Given the description of an element on the screen output the (x, y) to click on. 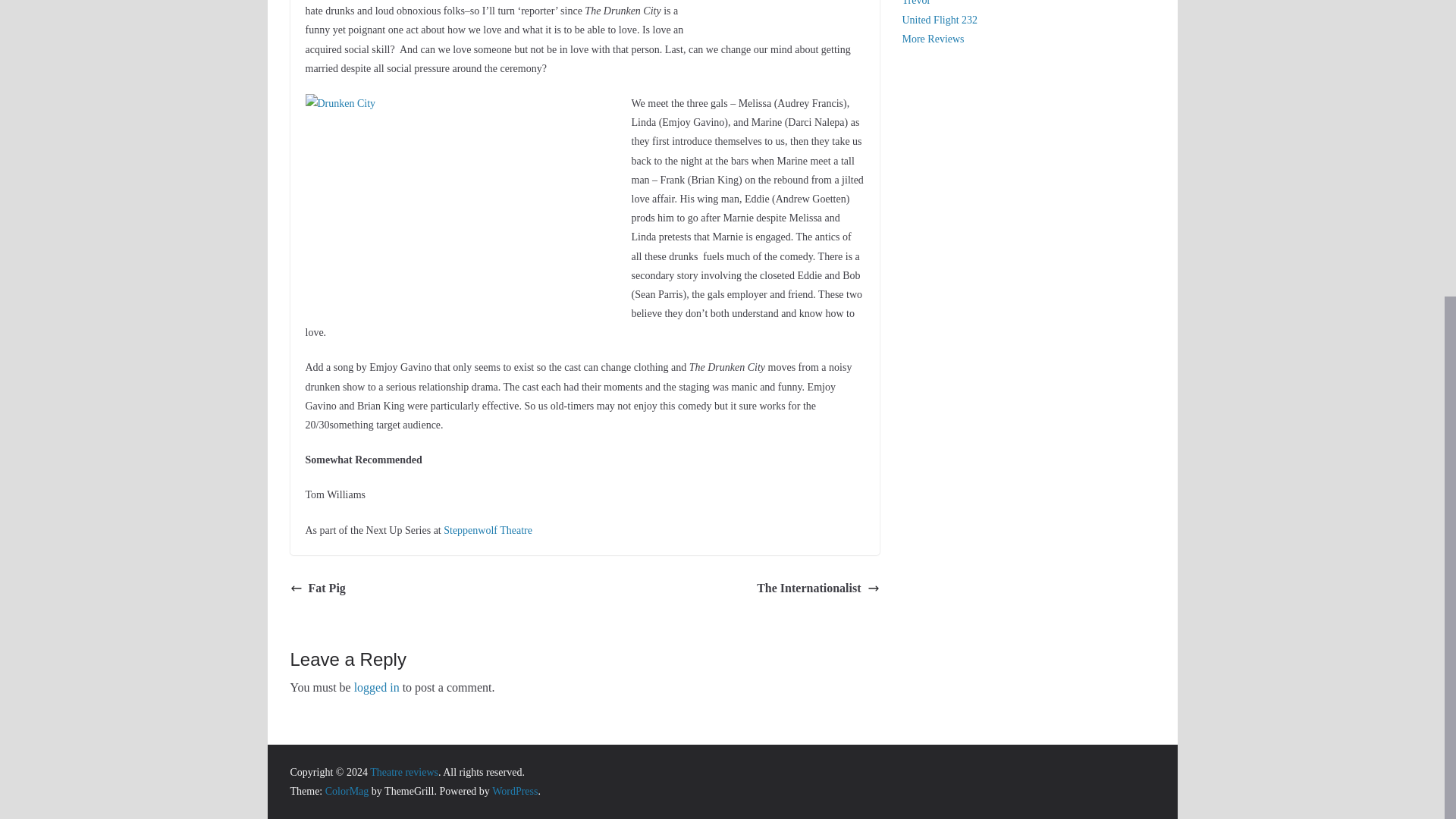
the drunken city (456, 191)
next up at steppenwolf theatre (792, 2)
The Internationalist (818, 588)
Steppenwolf Theatre (488, 530)
logged in (375, 686)
Fat Pig (317, 588)
